Given the description of an element on the screen output the (x, y) to click on. 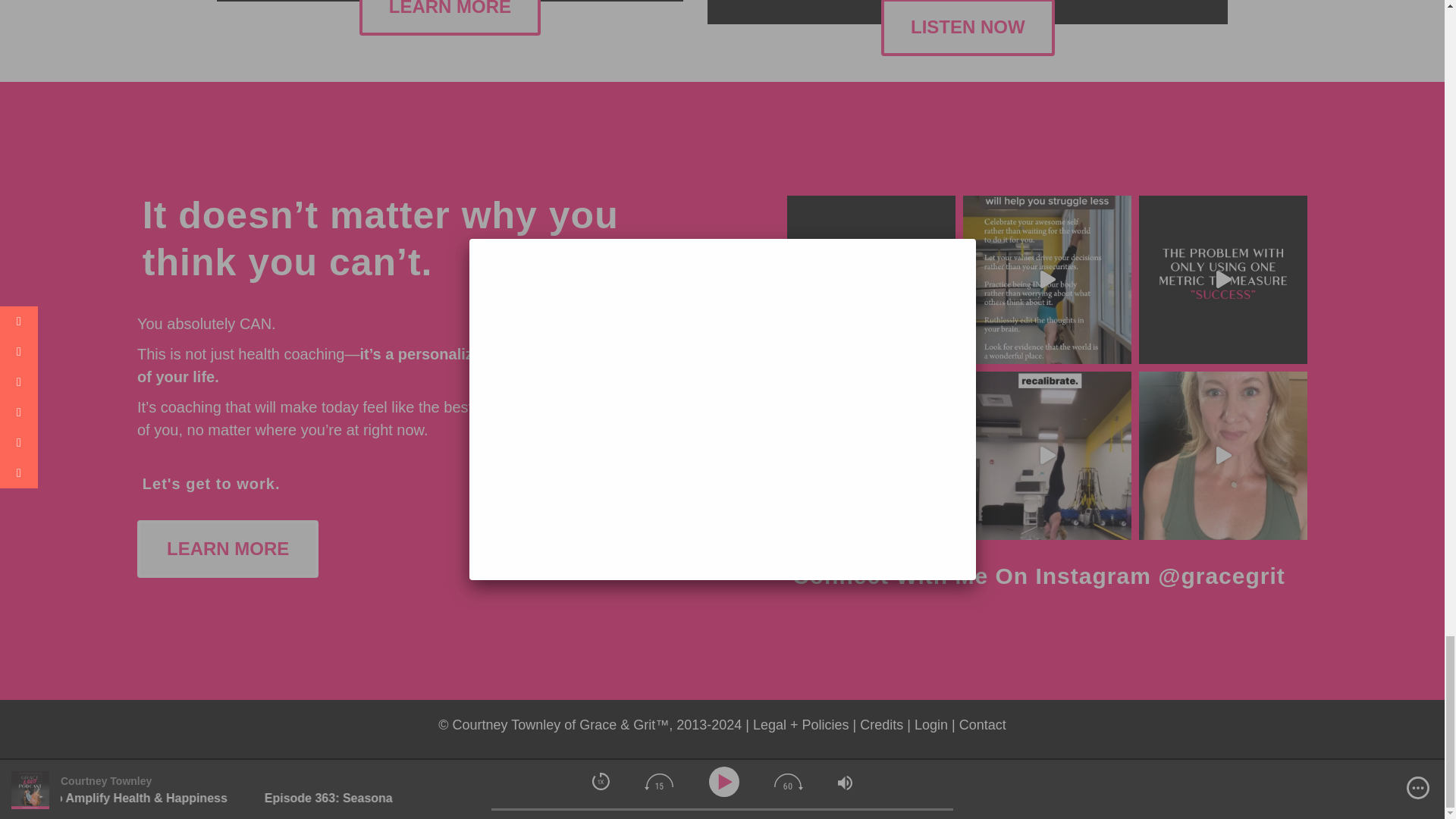
Let's get to work. (211, 483)
